Given the description of an element on the screen output the (x, y) to click on. 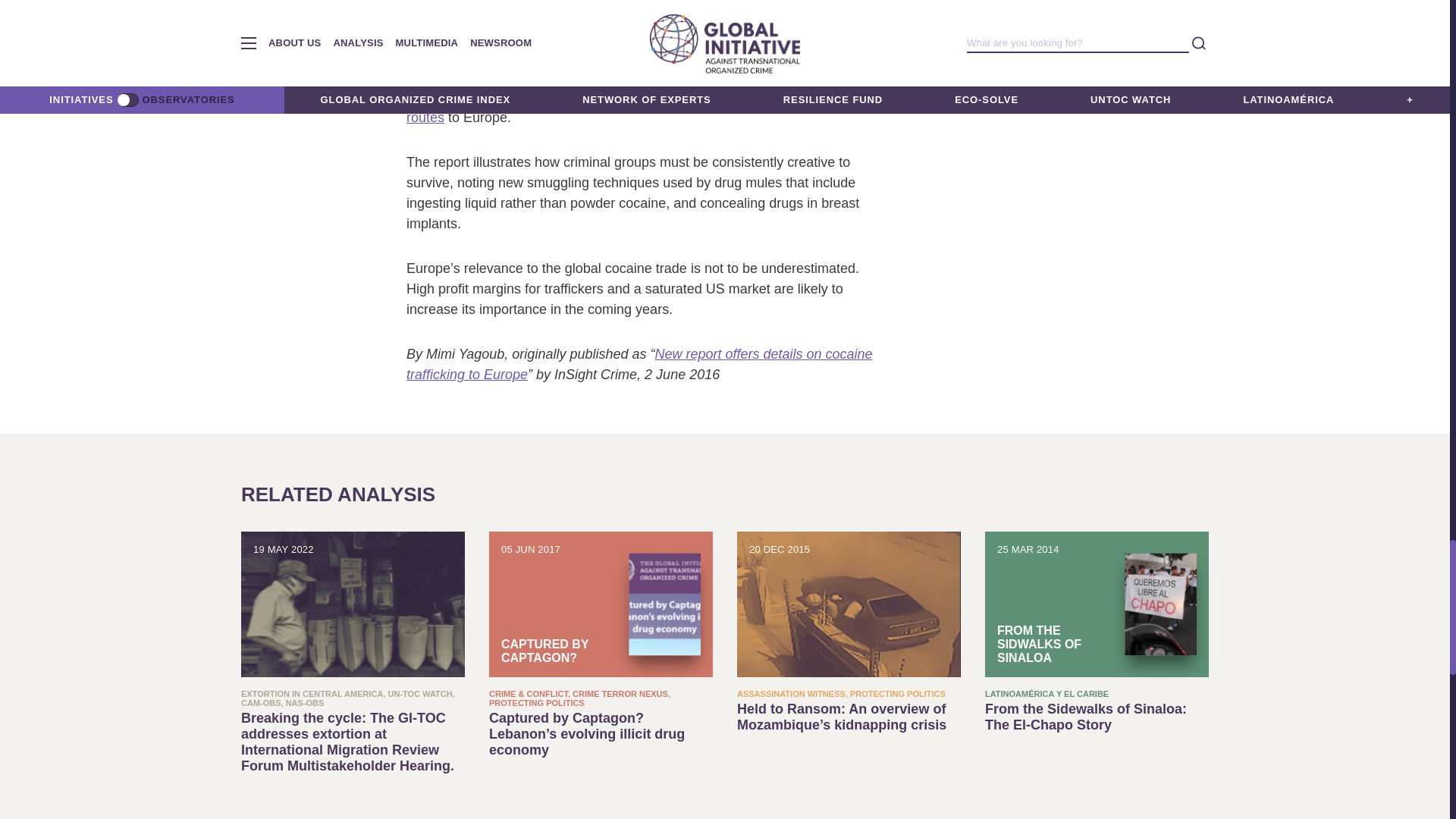
Link to Peru landing page.  (466, 96)
